Given the description of an element on the screen output the (x, y) to click on. 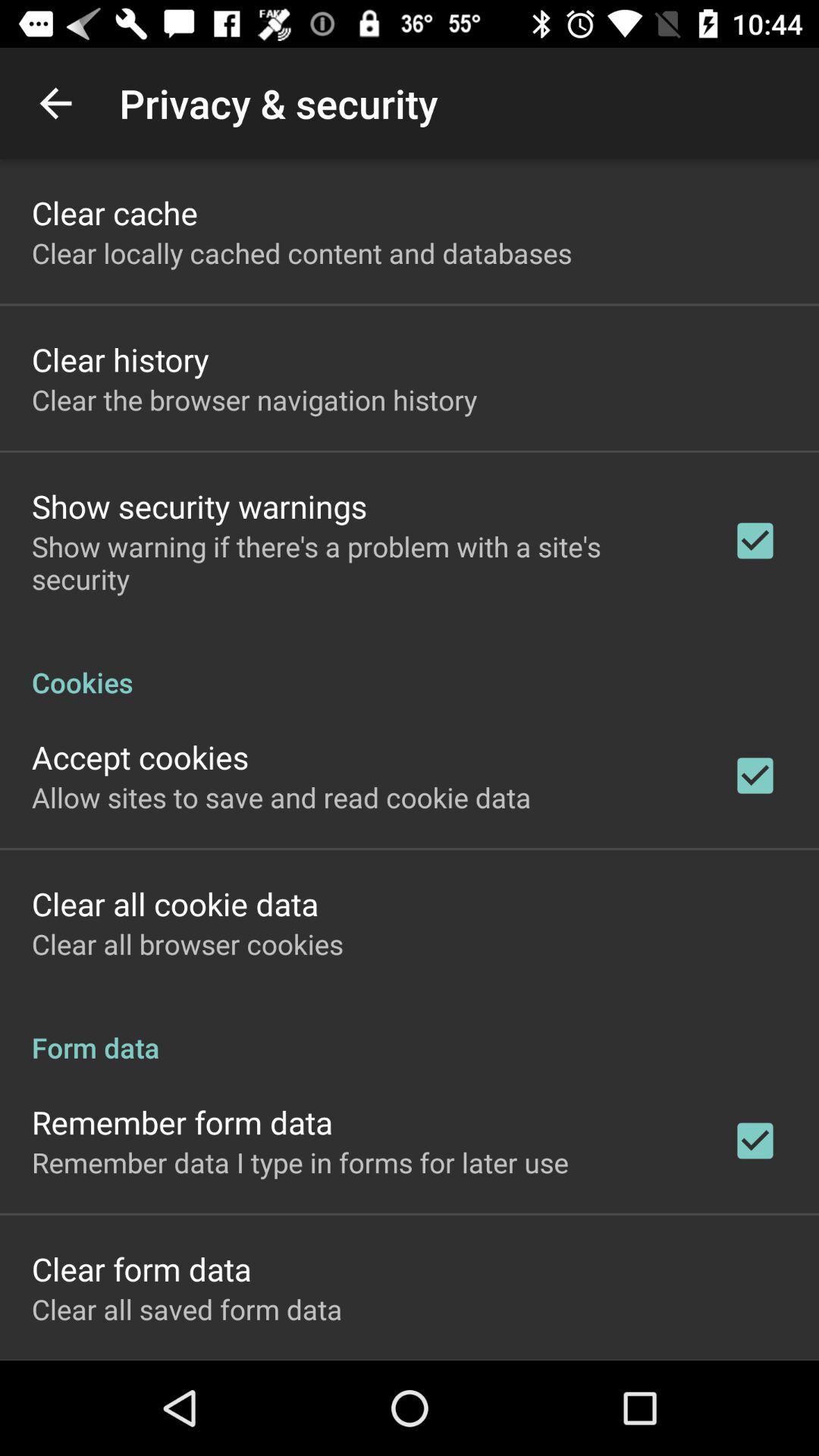
swipe to accept cookies item (140, 756)
